Given the description of an element on the screen output the (x, y) to click on. 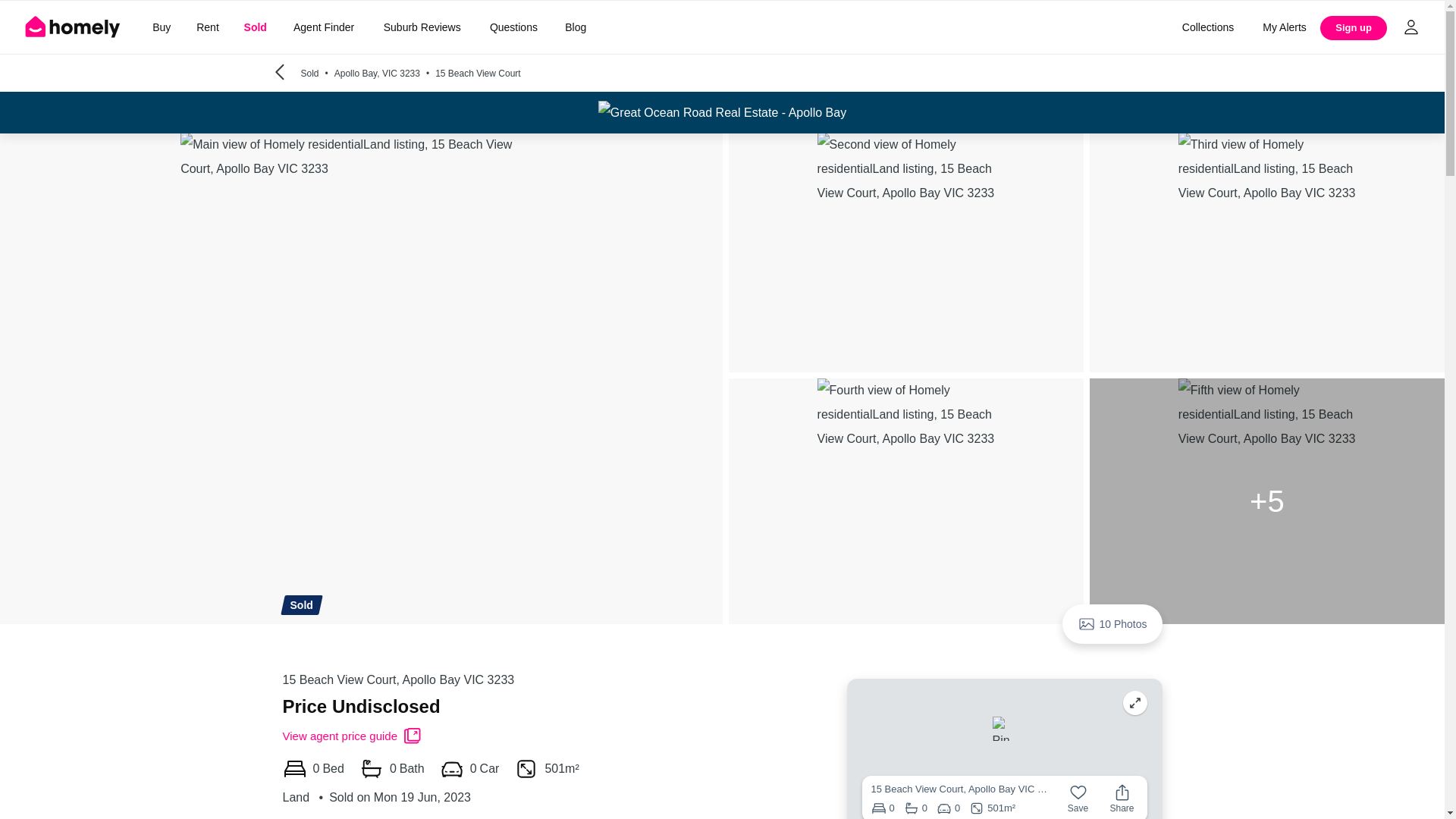
Agent Finder (323, 27)
Questions (513, 27)
Homely (72, 27)
Apollo Bay, VIC 3233 (384, 72)
Rent (207, 27)
Buy (161, 27)
View agent price guide (352, 735)
Suburb Reviews (422, 27)
Sold (255, 27)
Questions (513, 27)
